Given the description of an element on the screen output the (x, y) to click on. 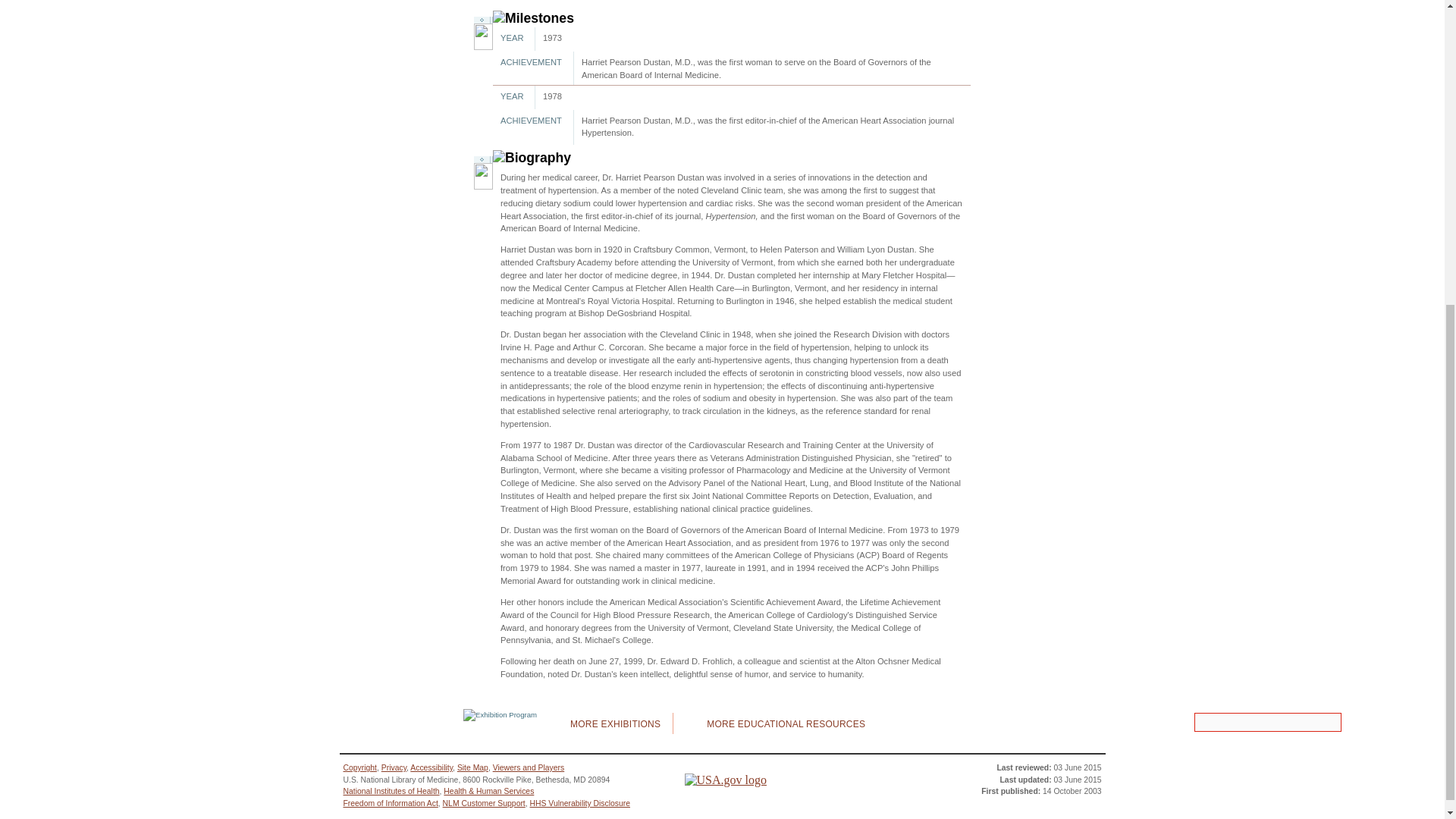
Accessibility (431, 767)
MORE EDUCATIONAL RESOURCES (774, 722)
Viewers and Players (528, 767)
MORE EXHIBITIONS (604, 722)
Site Map (472, 767)
HHS Vulnerability Disclosure (579, 803)
National Institutes of Health (390, 791)
Exhibition Program logo (500, 723)
Freedom of Information Act (390, 803)
Privacy (393, 767)
